Given the description of an element on the screen output the (x, y) to click on. 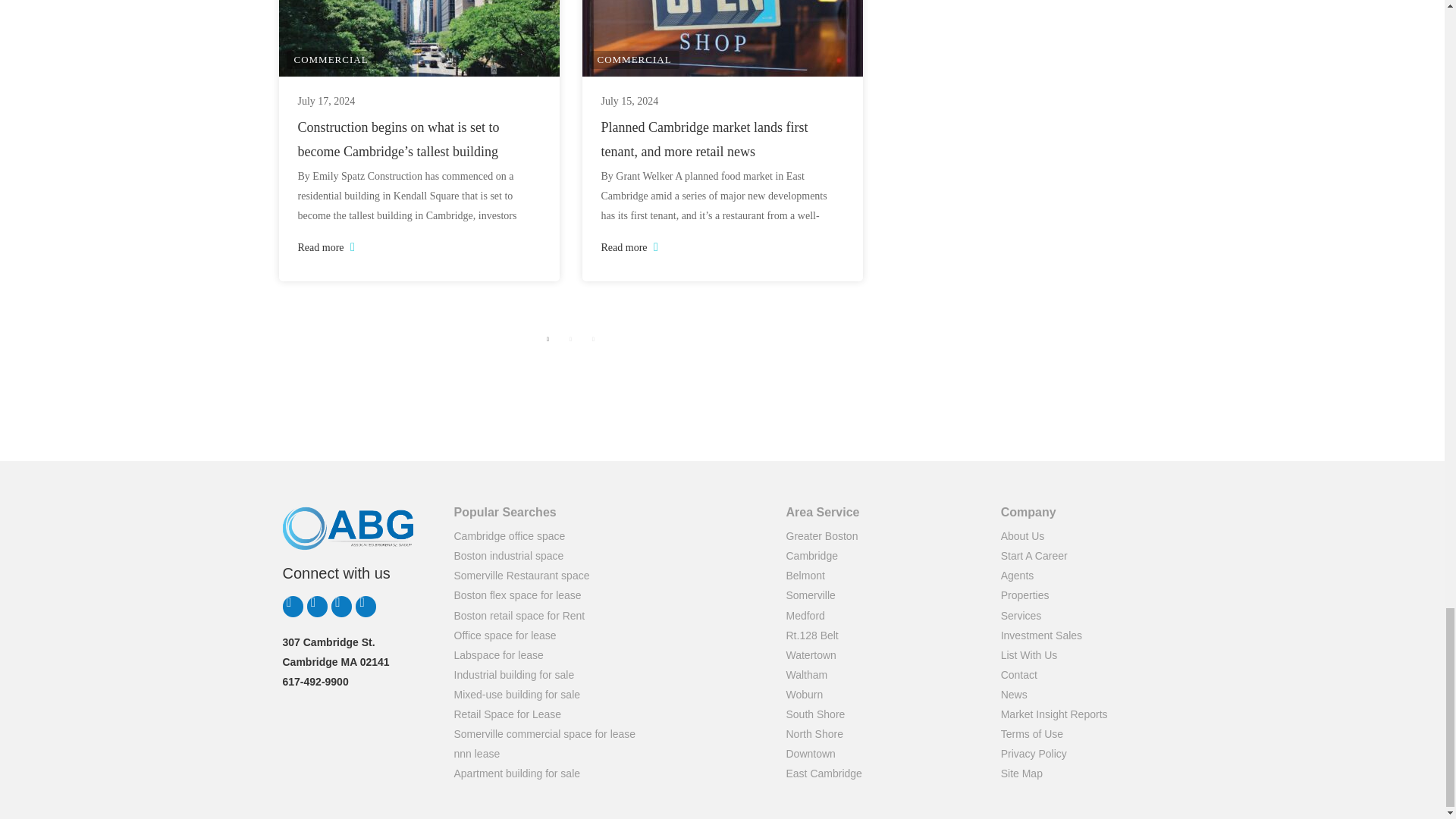
commercial (330, 59)
